Given the description of an element on the screen output the (x, y) to click on. 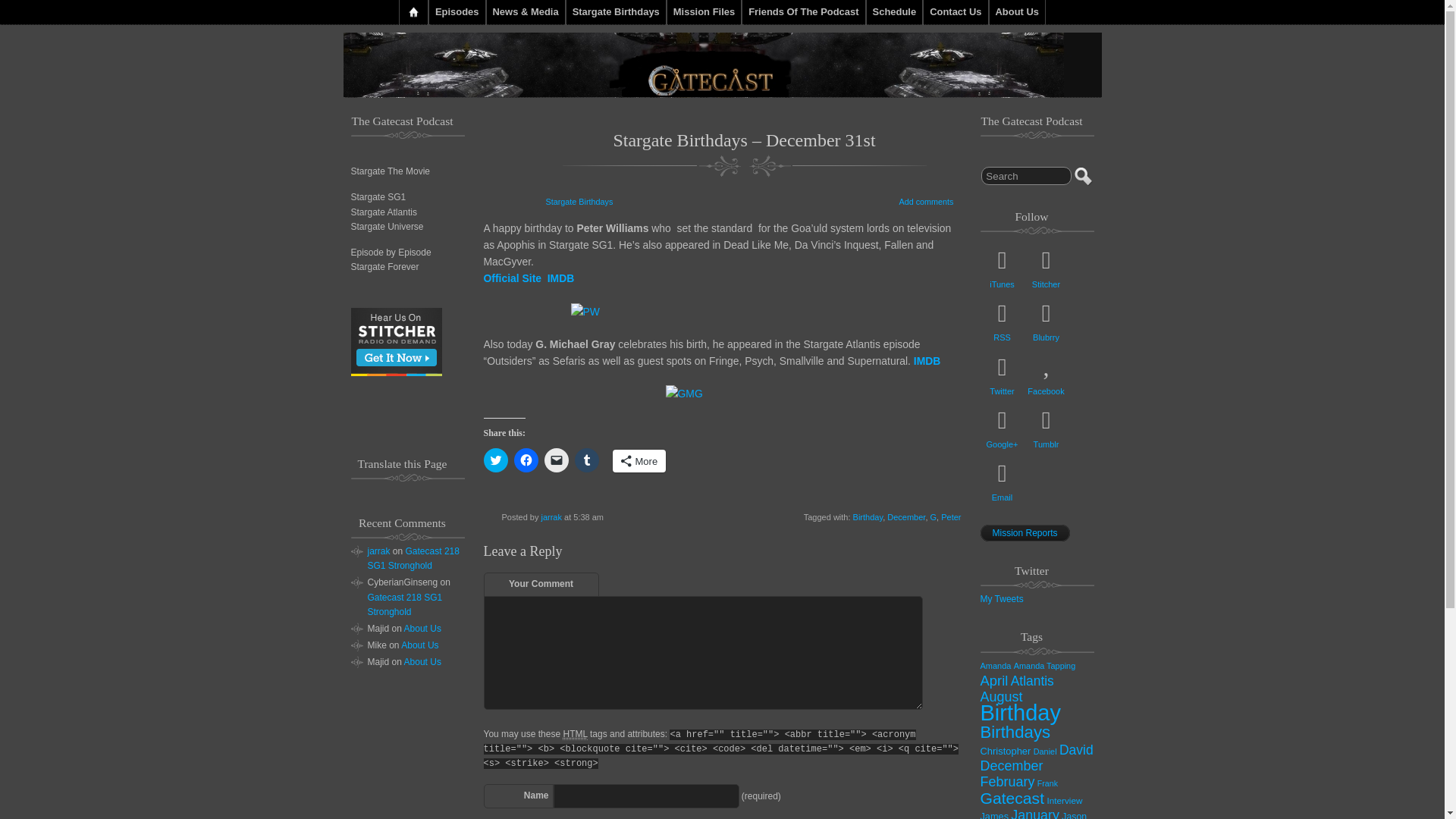
Gatecast 218 SG1 Stronghold (412, 558)
Episodes (456, 12)
Search (1026, 176)
About Us (1017, 12)
Click to share on Twitter (495, 459)
Peter (950, 516)
HyperText Markup Language (574, 734)
Contact Us (955, 12)
IMDB (927, 360)
Click to share on Tumblr (586, 459)
Gatecast 218 SG1 Stronghold (404, 604)
Click to email a link to a friend (556, 459)
Click to share on Facebook (525, 459)
Mission Files (703, 12)
Birthday (868, 516)
